Given the description of an element on the screen output the (x, y) to click on. 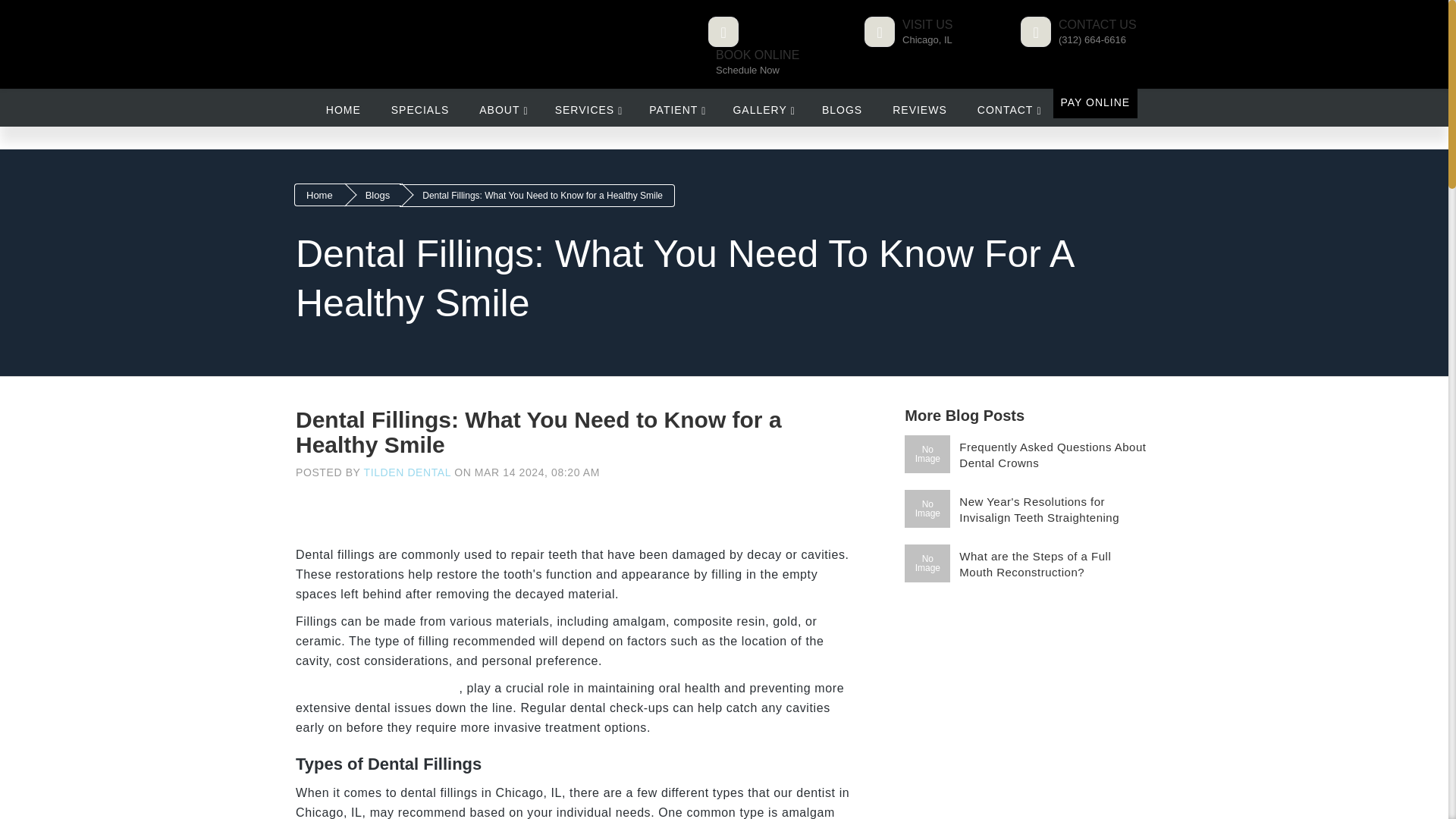
ABOUT (501, 107)
SERVICES (587, 107)
HOME (343, 107)
PATIENT (764, 46)
SPECIALS (675, 107)
Tilden Dental Group (419, 107)
GALLERY (388, 23)
